Given the description of an element on the screen output the (x, y) to click on. 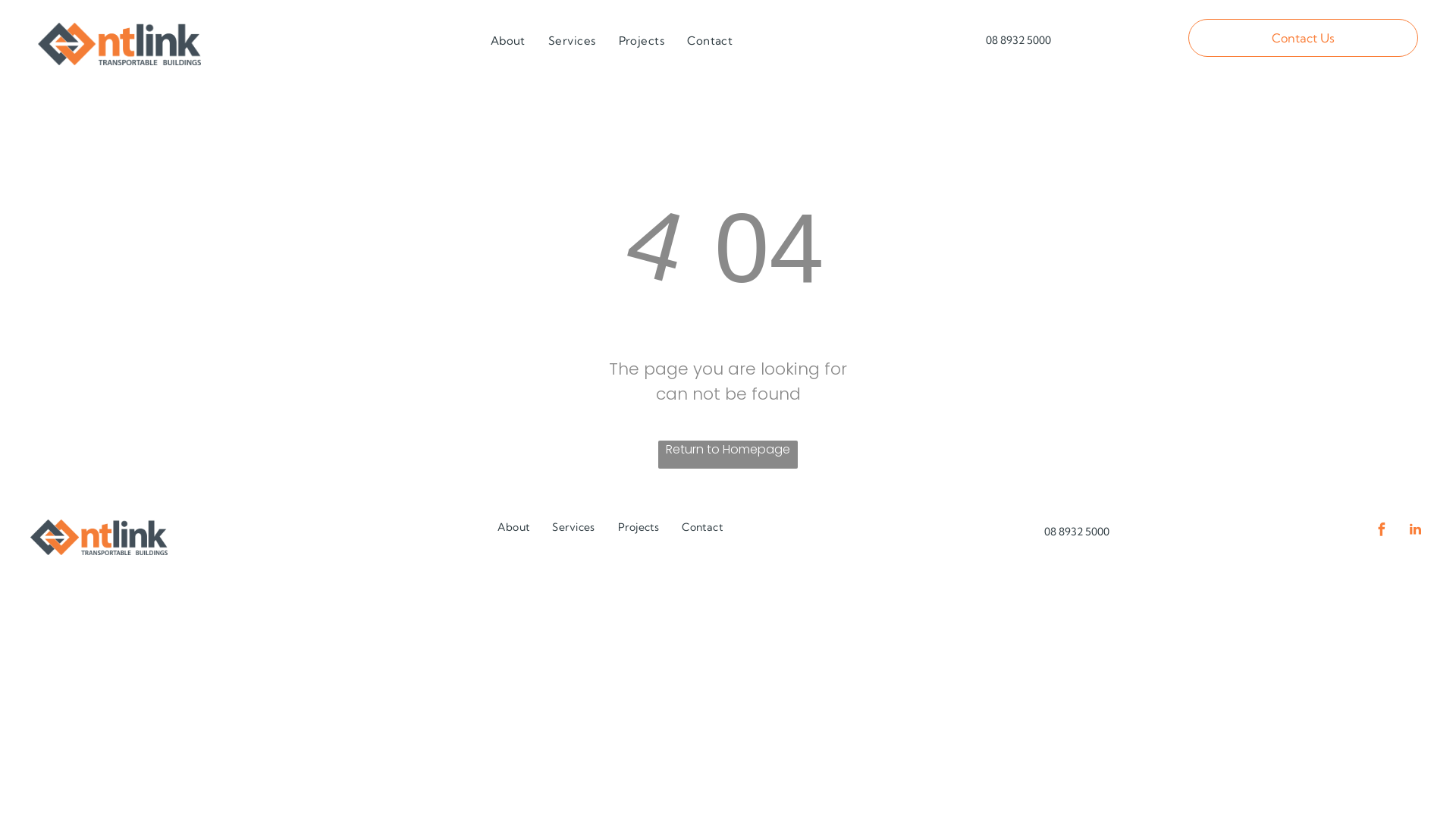
Return to Homepage Element type: text (727, 454)
About Element type: text (507, 41)
Contact Us Element type: text (1303, 37)
Projects Element type: text (638, 527)
Contact Element type: text (709, 41)
Services Element type: text (572, 527)
About Element type: text (513, 527)
Services Element type: text (571, 41)
08 8932 5000 Element type: text (1072, 39)
Projects Element type: text (641, 41)
Contact Element type: text (702, 527)
08 8932 5000 Element type: text (1076, 531)
